Given the description of an element on the screen output the (x, y) to click on. 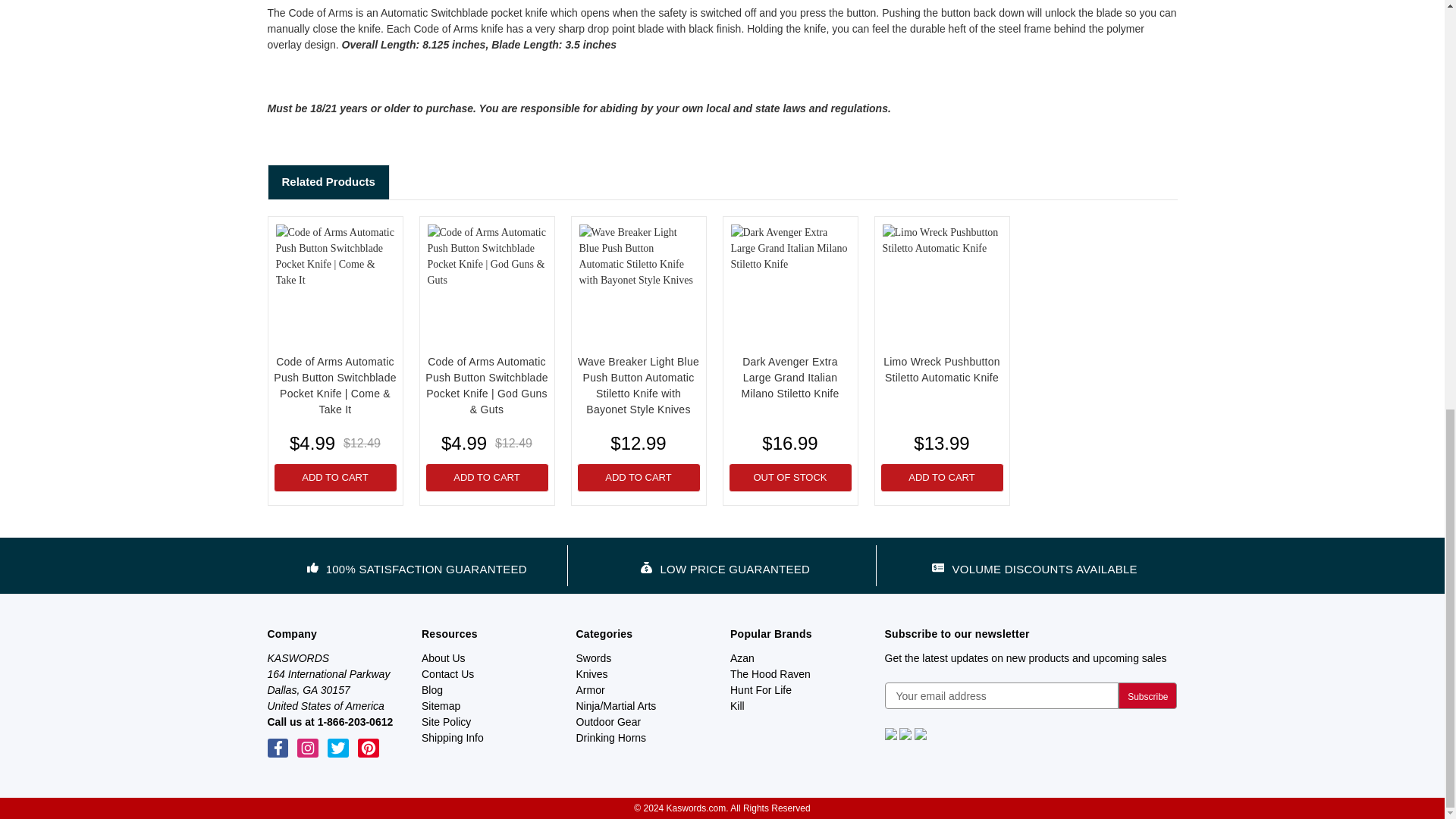
Limo Wreck Pushbutton Stiletto Automatic Knife (941, 283)
Dark Avenger Extra Large Grand Italian Milano Stiletto Knife (790, 283)
Subscribe (1147, 695)
